Given the description of an element on the screen output the (x, y) to click on. 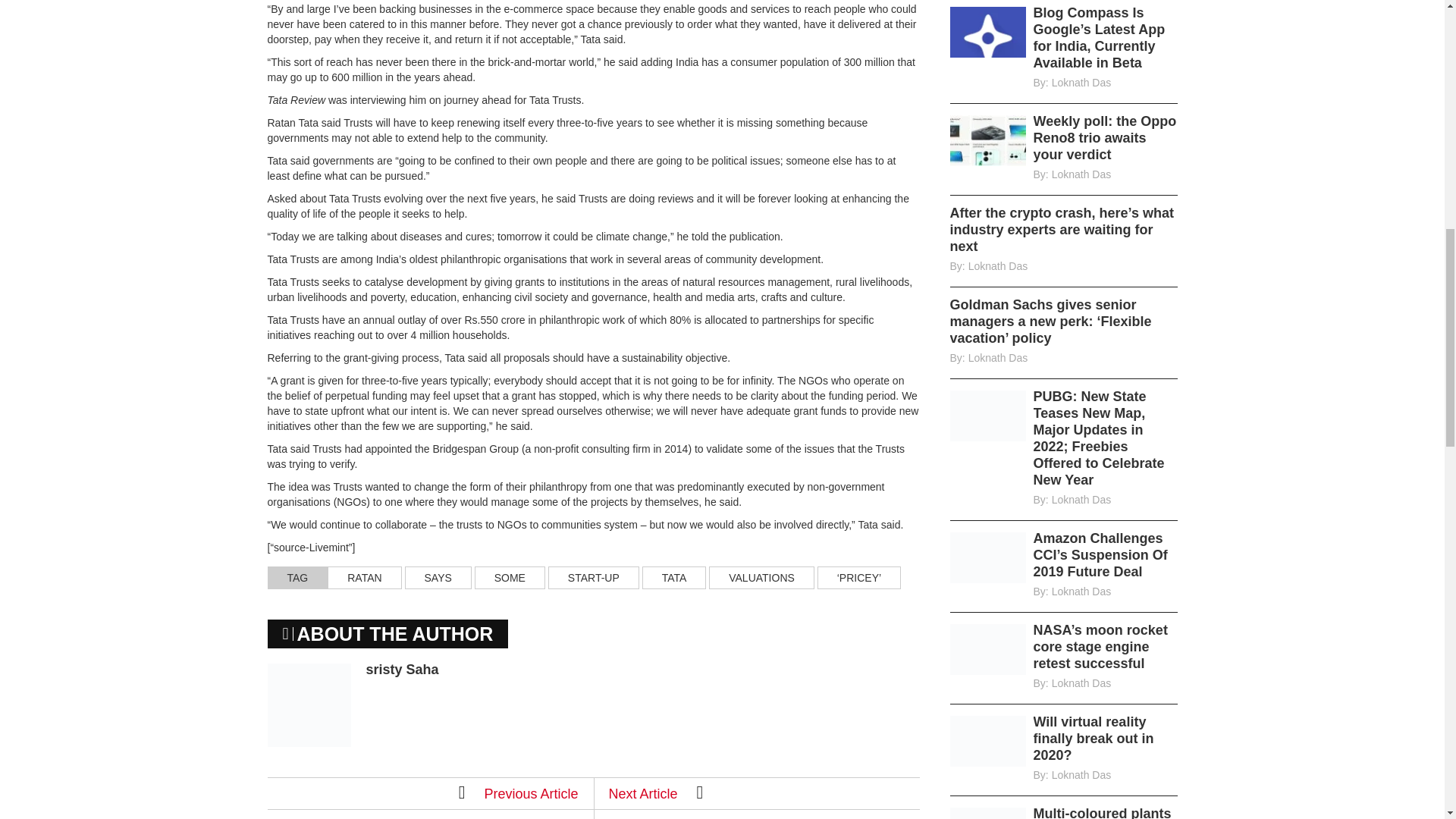
Posts by Loknath Das (1081, 499)
Posts by Loknath Das (1081, 174)
Posts by Loknath Das (1081, 82)
Previous Article (518, 791)
SAYS (437, 577)
Posts by sristy Saha (401, 669)
RATAN (364, 577)
START-UP (593, 577)
sristy Saha (401, 669)
SOME (509, 577)
